Given the description of an element on the screen output the (x, y) to click on. 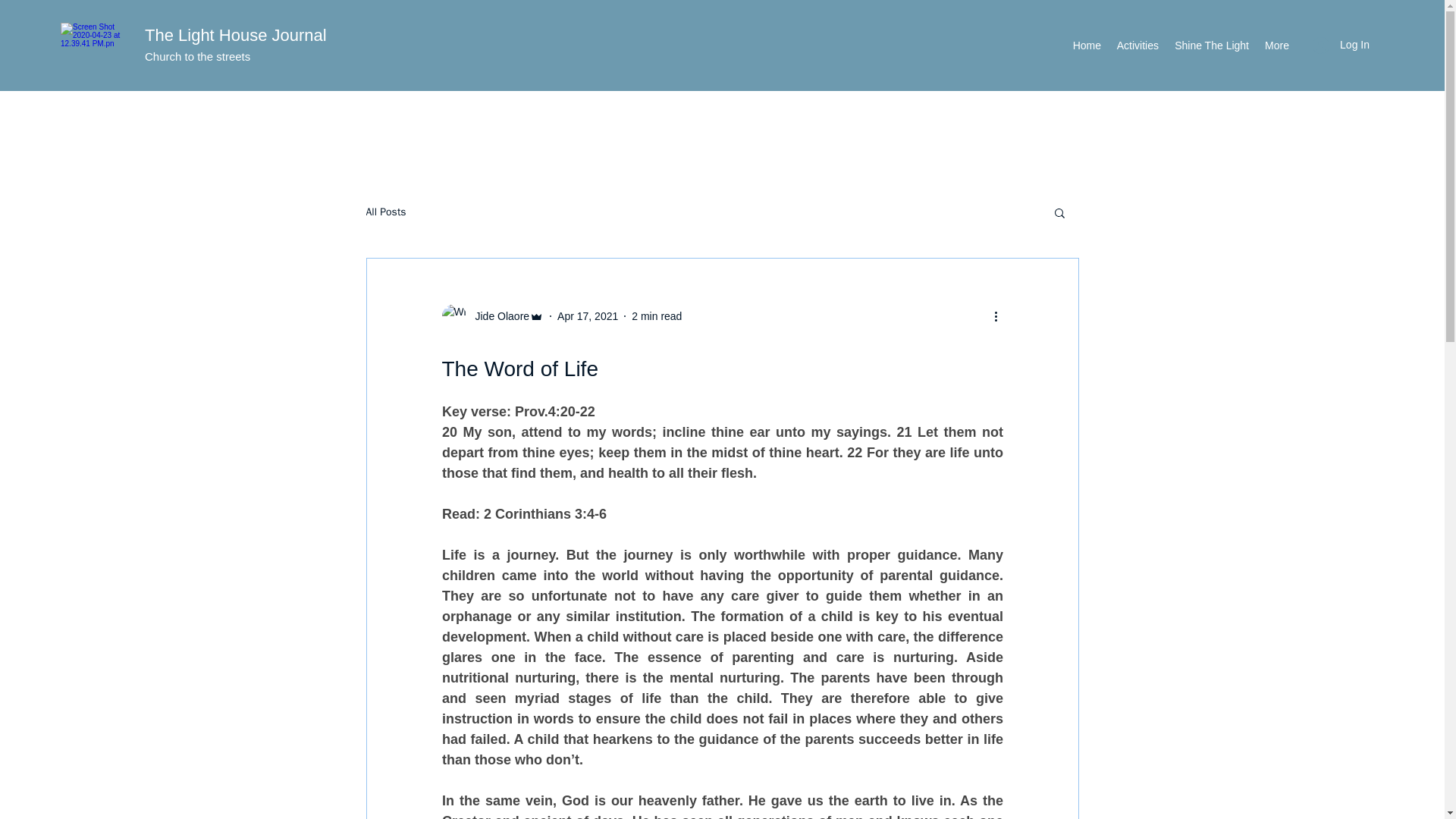
Activities (1137, 45)
All Posts (385, 212)
Shine The Light (1211, 45)
Apr 17, 2021 (587, 316)
Home (1086, 45)
Jide Olaore (497, 316)
Jide Olaore (492, 315)
2 min read (656, 316)
The Light House Journal (235, 35)
Log In (1340, 44)
